Given the description of an element on the screen output the (x, y) to click on. 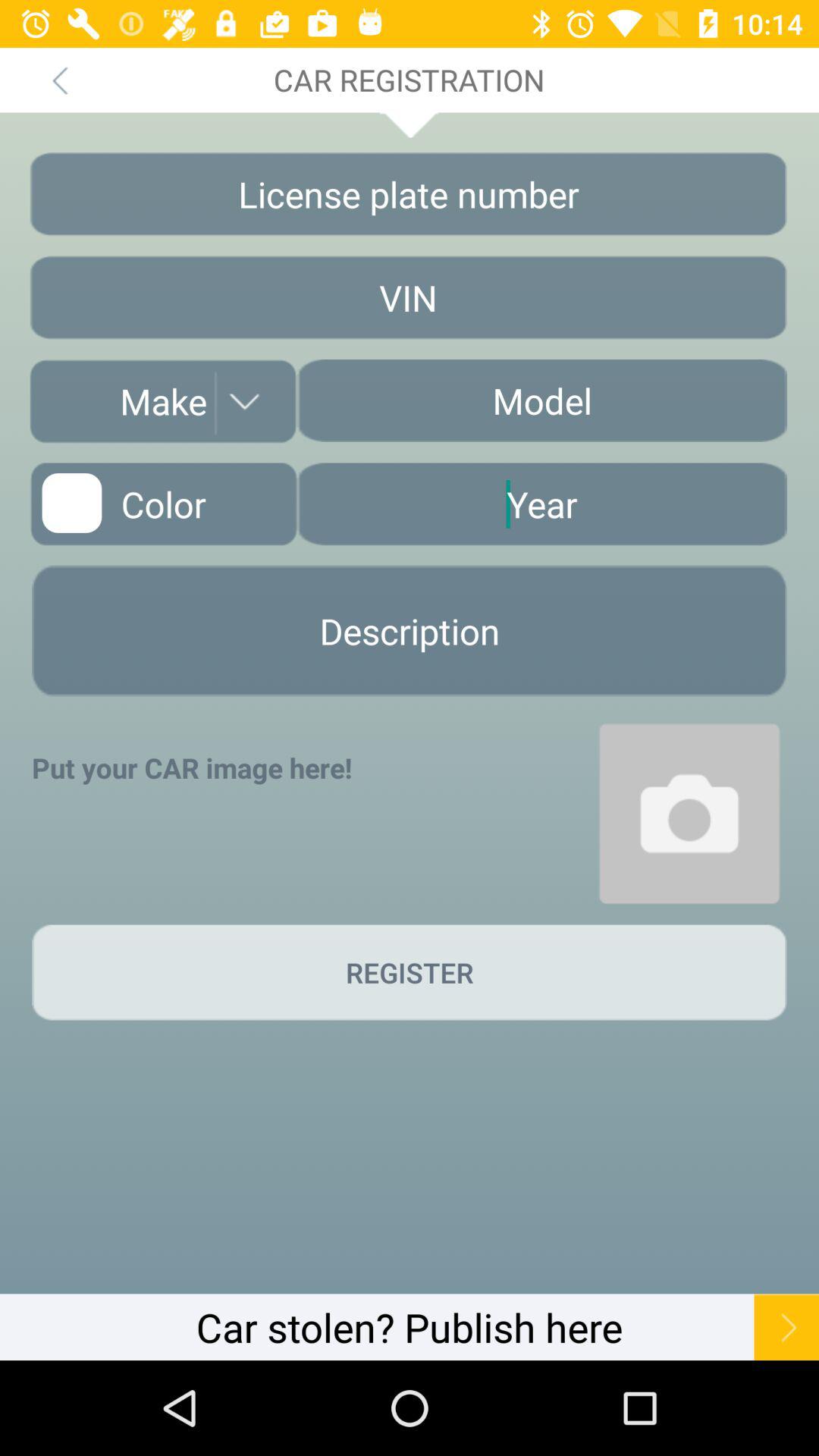
license plate number (408, 194)
